Given the description of an element on the screen output the (x, y) to click on. 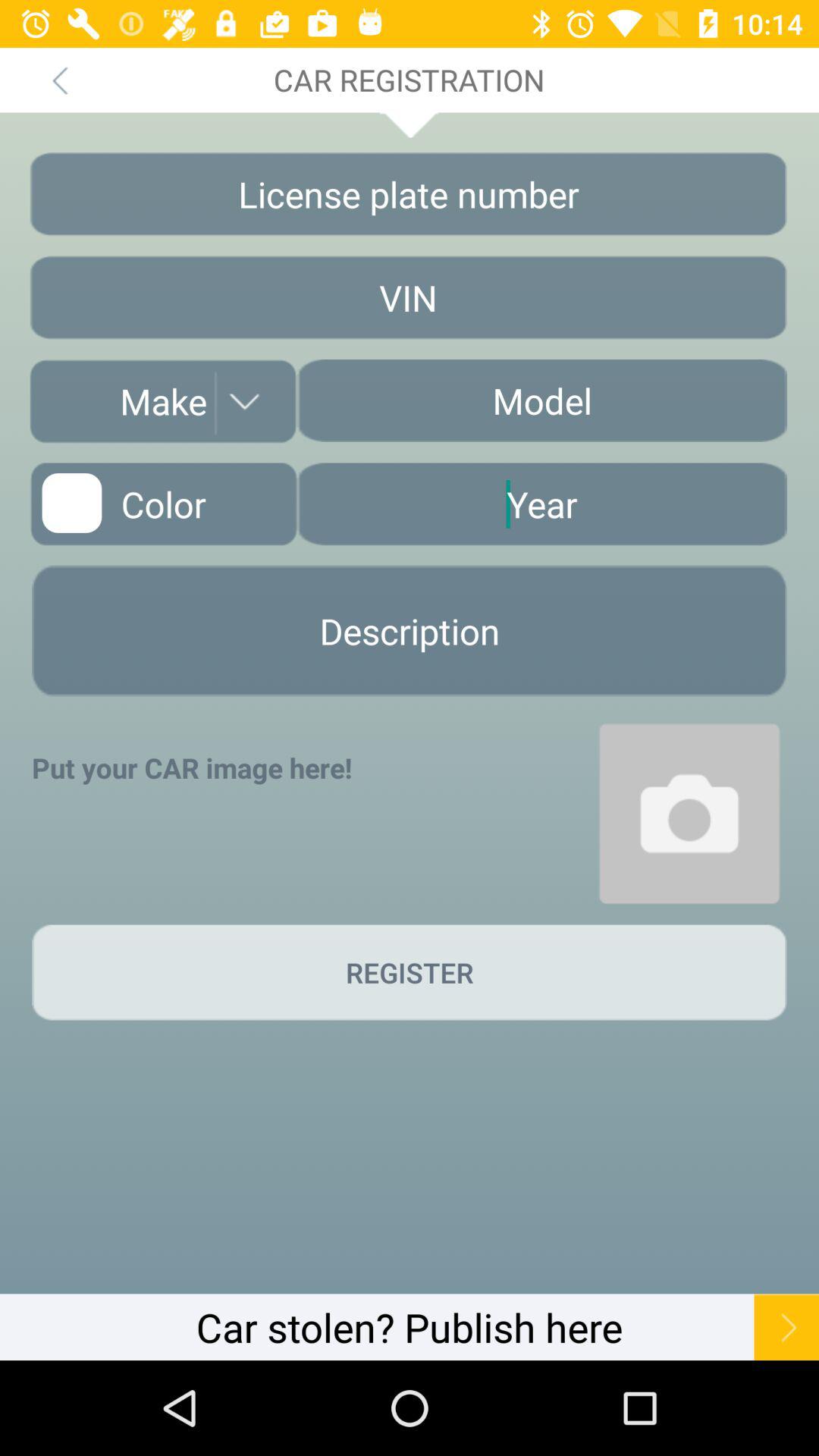
license plate number (408, 194)
